Given the description of an element on the screen output the (x, y) to click on. 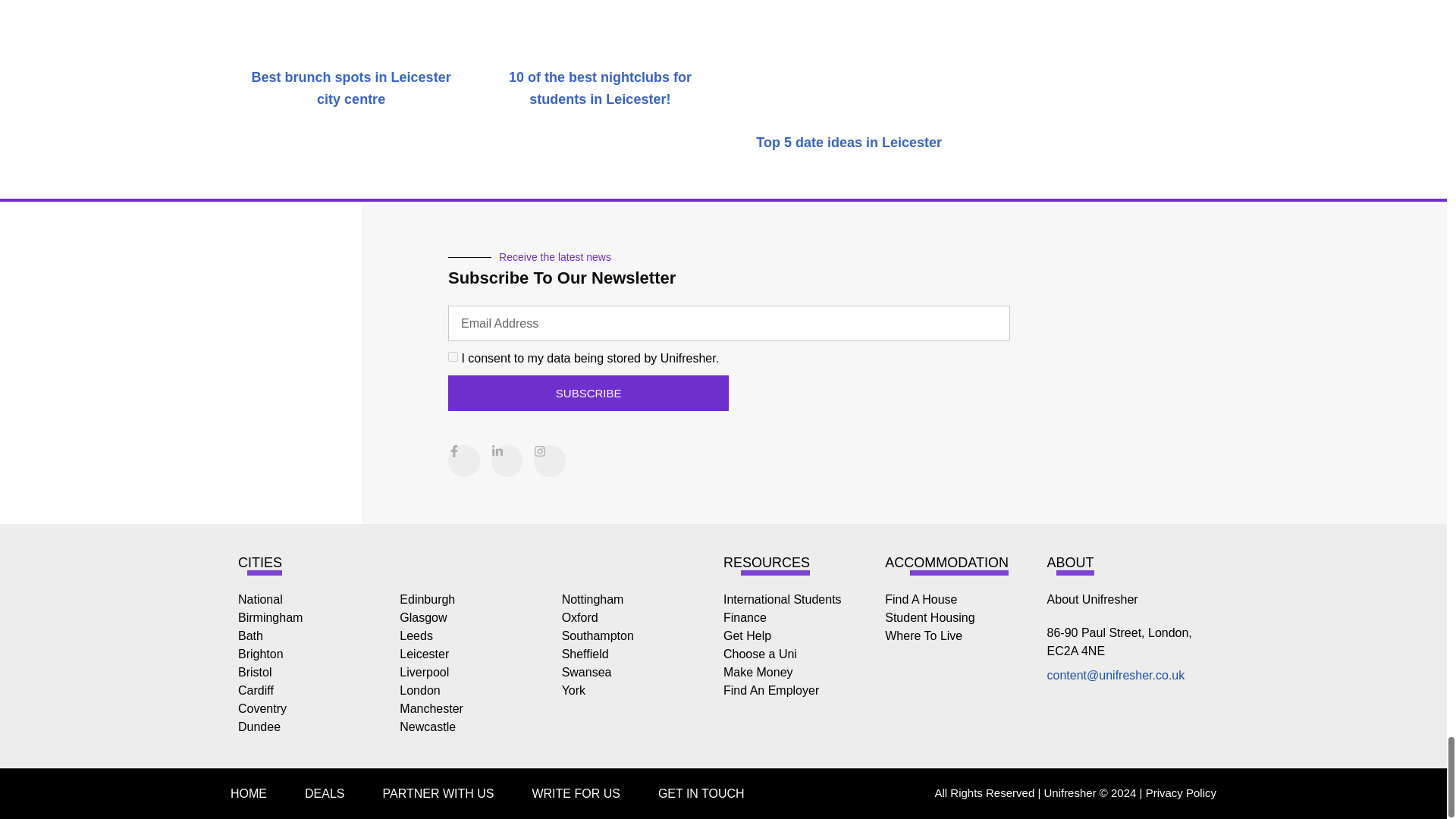
on (453, 356)
